Given the description of an element on the screen output the (x, y) to click on. 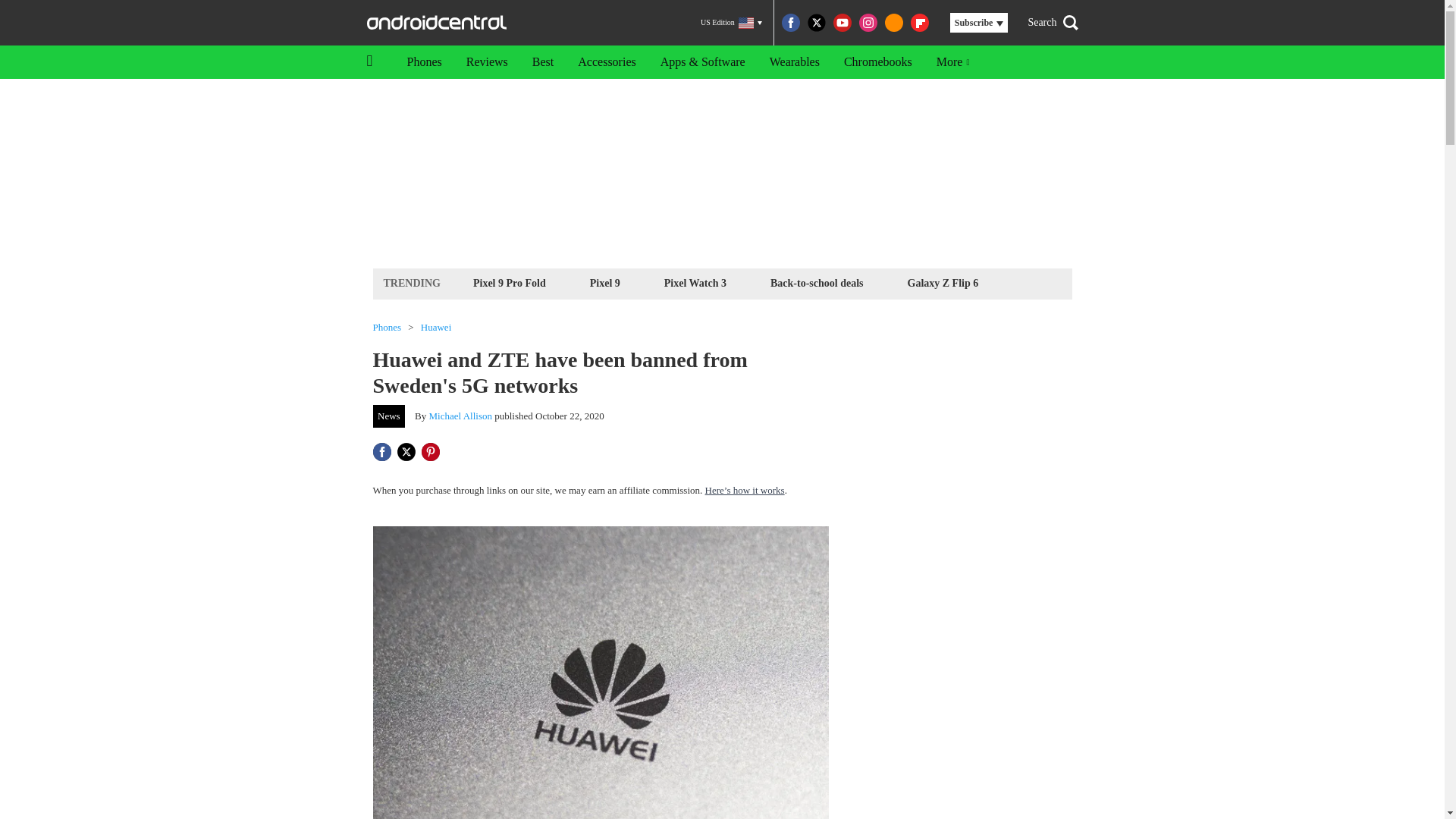
Chromebooks (877, 61)
Best (542, 61)
US Edition (731, 22)
Back-to-school deals (817, 282)
Pixel Watch 3 (695, 282)
Pixel 9 (605, 282)
Accessories (606, 61)
Phones (423, 61)
Michael Allison (460, 415)
Reviews (486, 61)
